Given the description of an element on the screen output the (x, y) to click on. 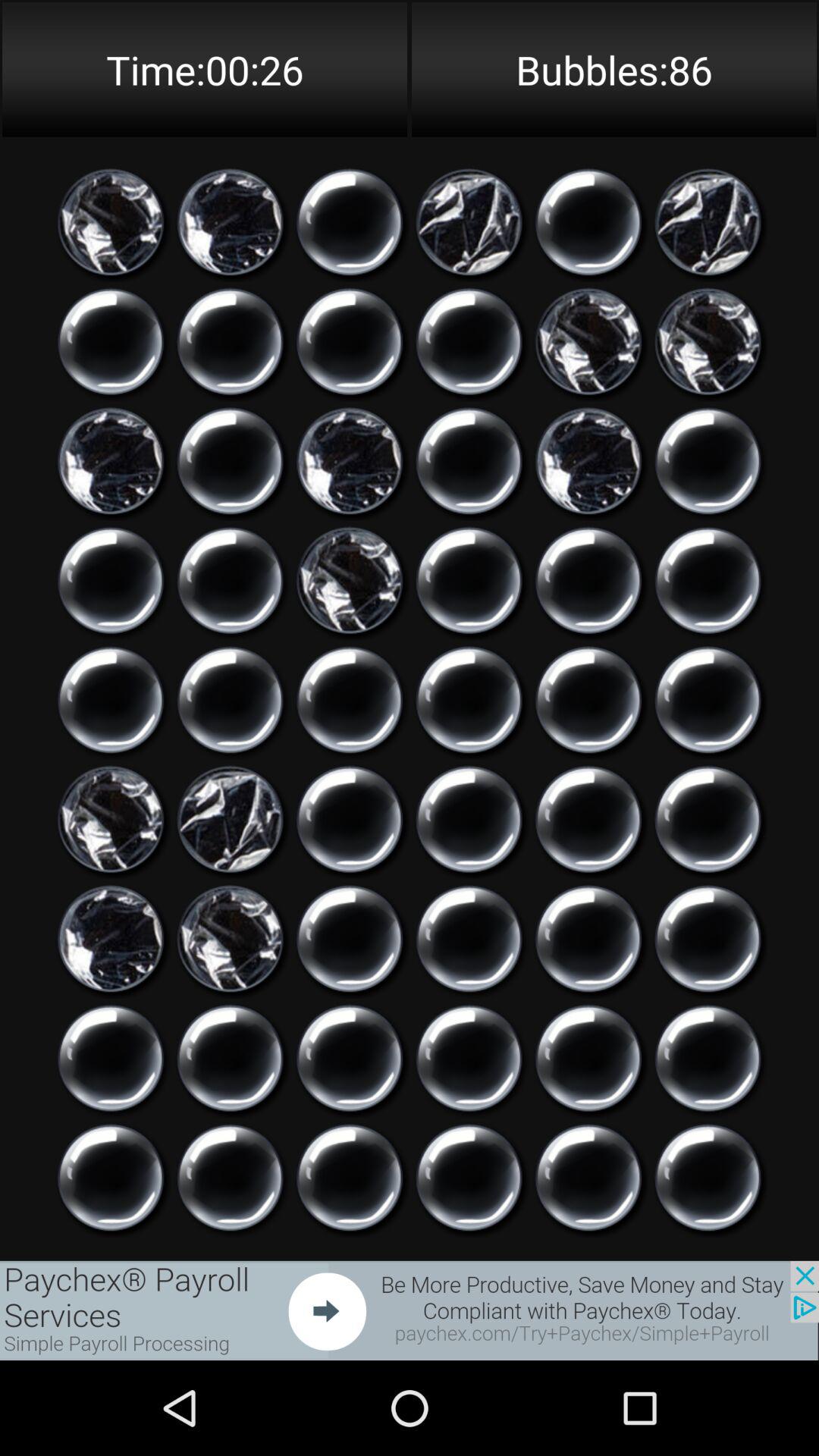
pop the bubble (707, 580)
